Given the description of an element on the screen output the (x, y) to click on. 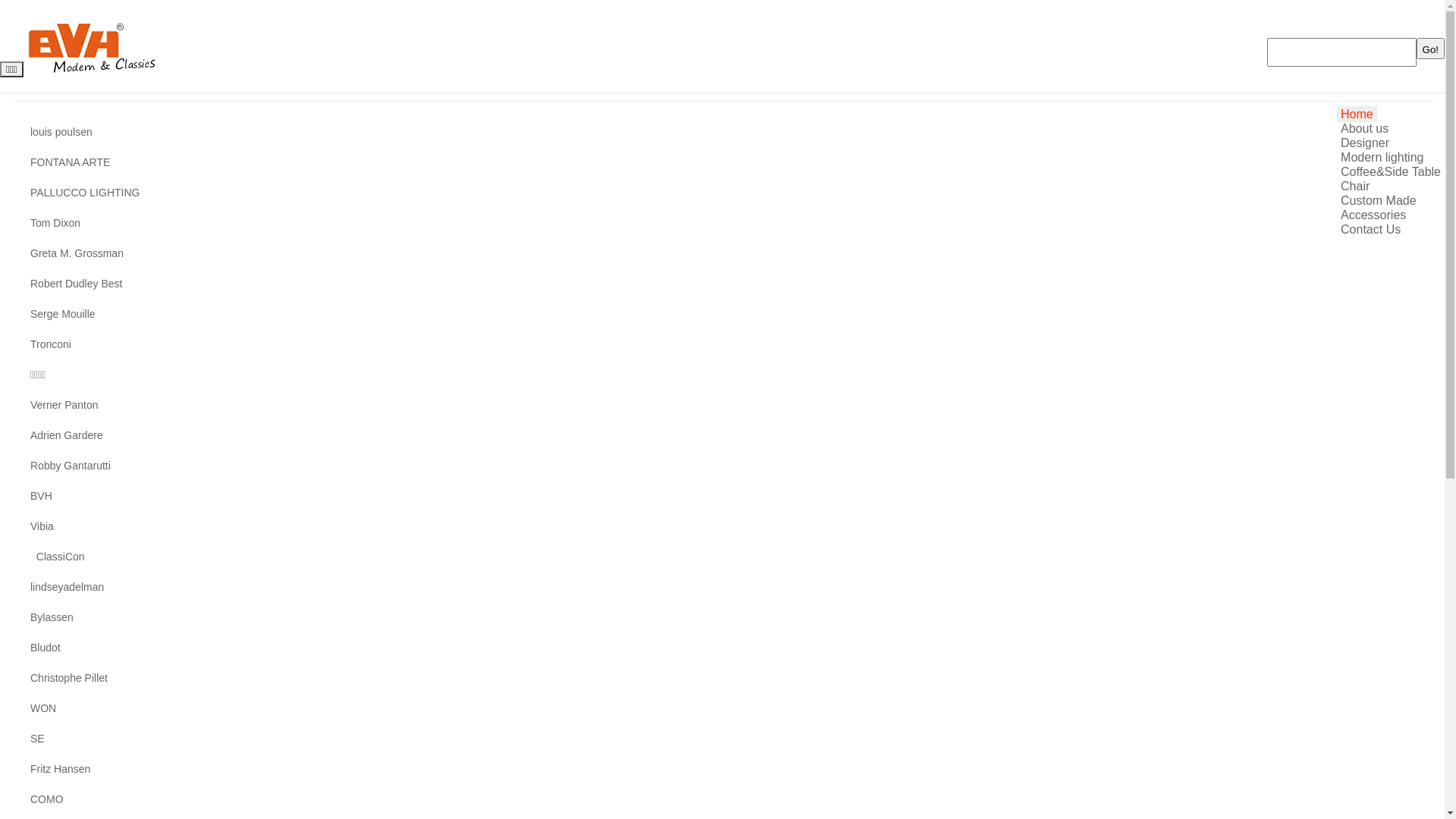
Robby Gantarutti Element type: text (70, 465)
Adrien Gardere Element type: text (66, 435)
Vibia Element type: text (41, 526)
Tom Dixon Element type: text (55, 222)
Greta M. Grossman Element type: text (76, 253)
FONTANA ARTE Element type: text (69, 162)
About us Element type: text (1364, 128)
Bylassen Element type: text (51, 617)
Christophe Pillet Element type: text (68, 677)
Coffee&Side Table Element type: text (1390, 171)
Chair Element type: text (1354, 186)
Serge Mouille Element type: text (62, 313)
louis poulsen Element type: text (61, 131)
Modern lighting Element type: text (1381, 157)
Go! Element type: text (1430, 48)
Custom Made Element type: text (1378, 200)
Home Element type: text (1356, 114)
Bludot Element type: text (45, 647)
COMO Element type: text (46, 799)
SE Element type: text (37, 738)
Fritz Hansen Element type: text (60, 768)
Designer Element type: text (1364, 142)
Contact Us Element type: text (1370, 229)
BVH Element type: text (41, 495)
  ClassiCon Element type: text (57, 556)
PALLUCCO LIGHTING Element type: text (84, 192)
Verner Panton Element type: text (64, 404)
Robert Dudley Best Element type: text (76, 283)
Accessories Element type: text (1372, 214)
lindseyadelman Element type: text (66, 586)
Tronconi Element type: text (50, 344)
WON Element type: text (43, 708)
